Given the description of an element on the screen output the (x, y) to click on. 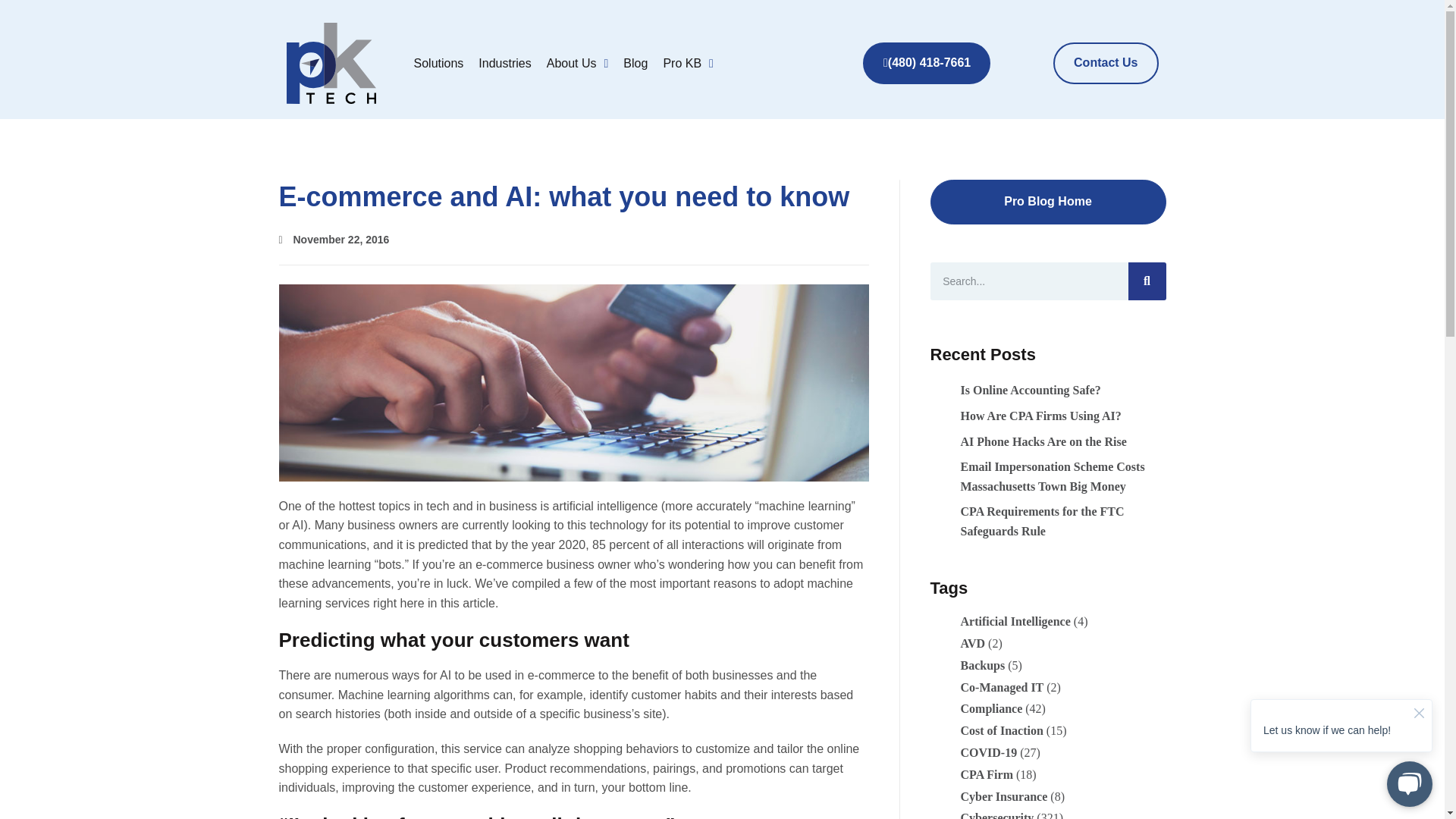
Blog (635, 63)
About Us (576, 63)
Solutions (438, 63)
Is Online Accounting Safe? (1029, 390)
Pro KB (687, 63)
How Are CPA Firms Using AI? (1040, 415)
Industries (504, 63)
Pro Blog Home (1048, 201)
Contact Us (1104, 63)
CPA Requirements for the FTC Safeguards Rule  (1041, 521)
AI Phone Hacks Are on the Rise (1042, 440)
